Given the description of an element on the screen output the (x, y) to click on. 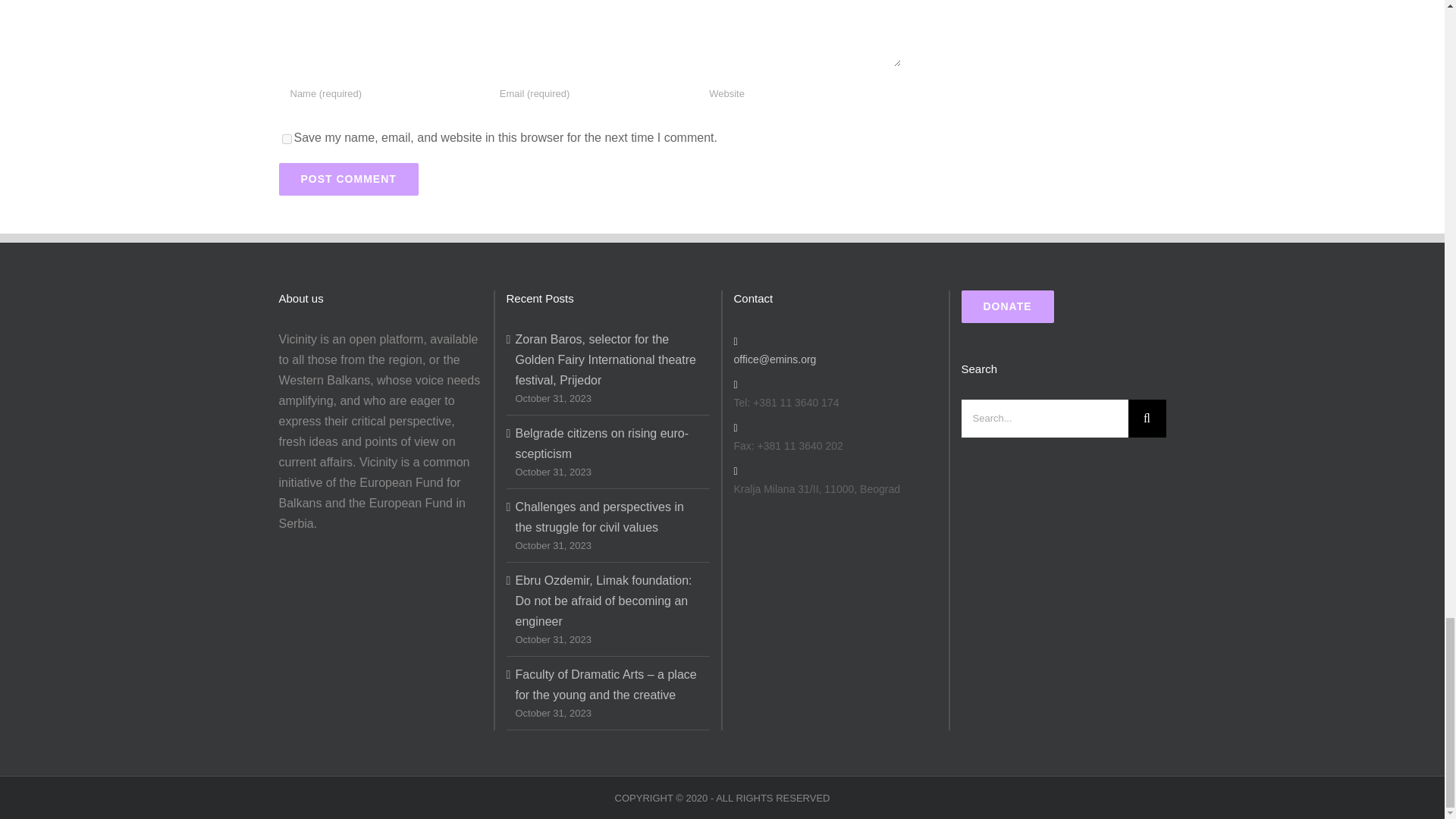
Post Comment (349, 178)
Post Comment (349, 178)
yes (287, 139)
